Given the description of an element on the screen output the (x, y) to click on. 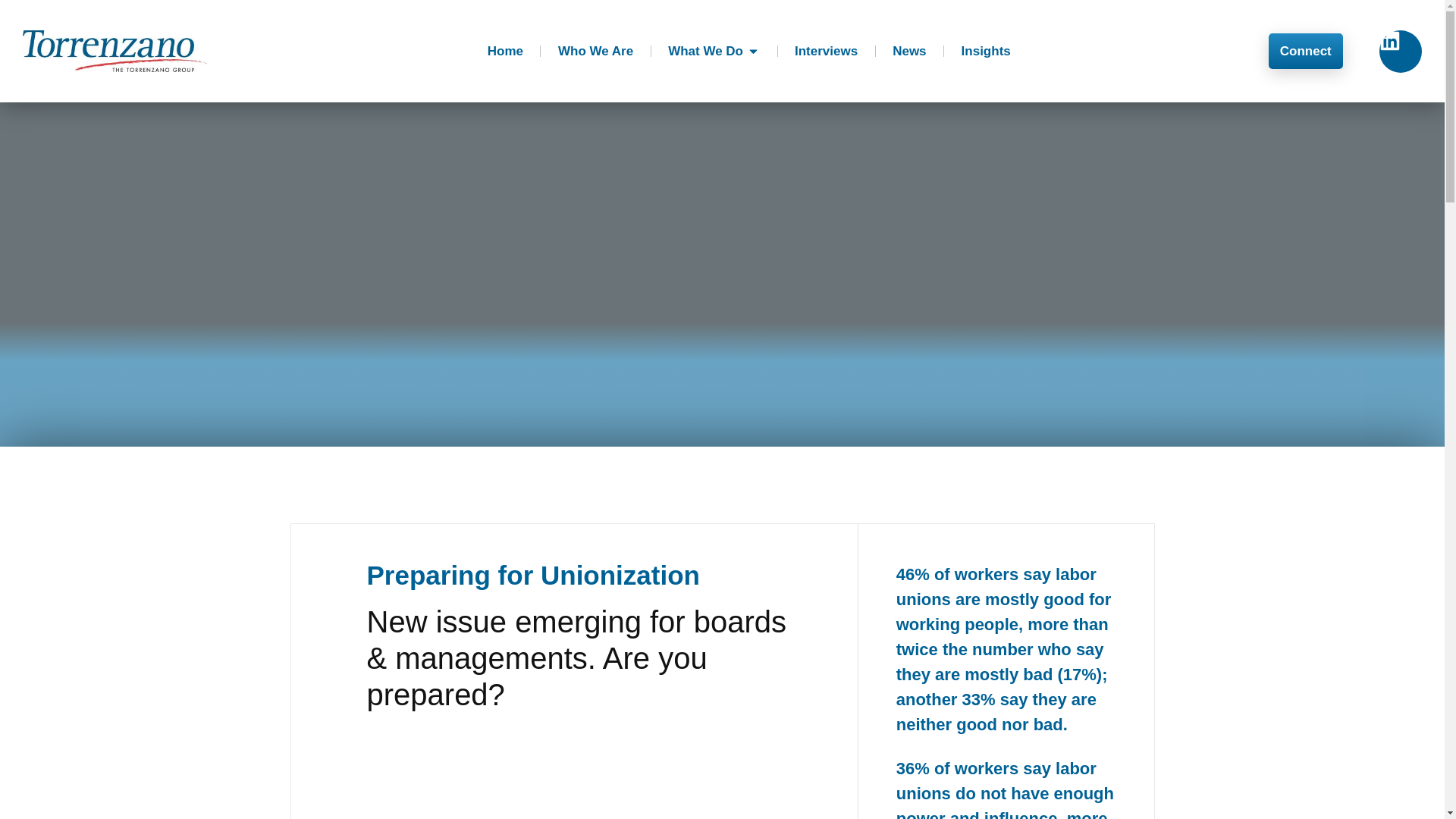
Who We Are (595, 51)
Interviews (825, 51)
Home (504, 51)
What We Do (705, 51)
News (909, 51)
Insights (985, 51)
Connect (1305, 50)
